Given the description of an element on the screen output the (x, y) to click on. 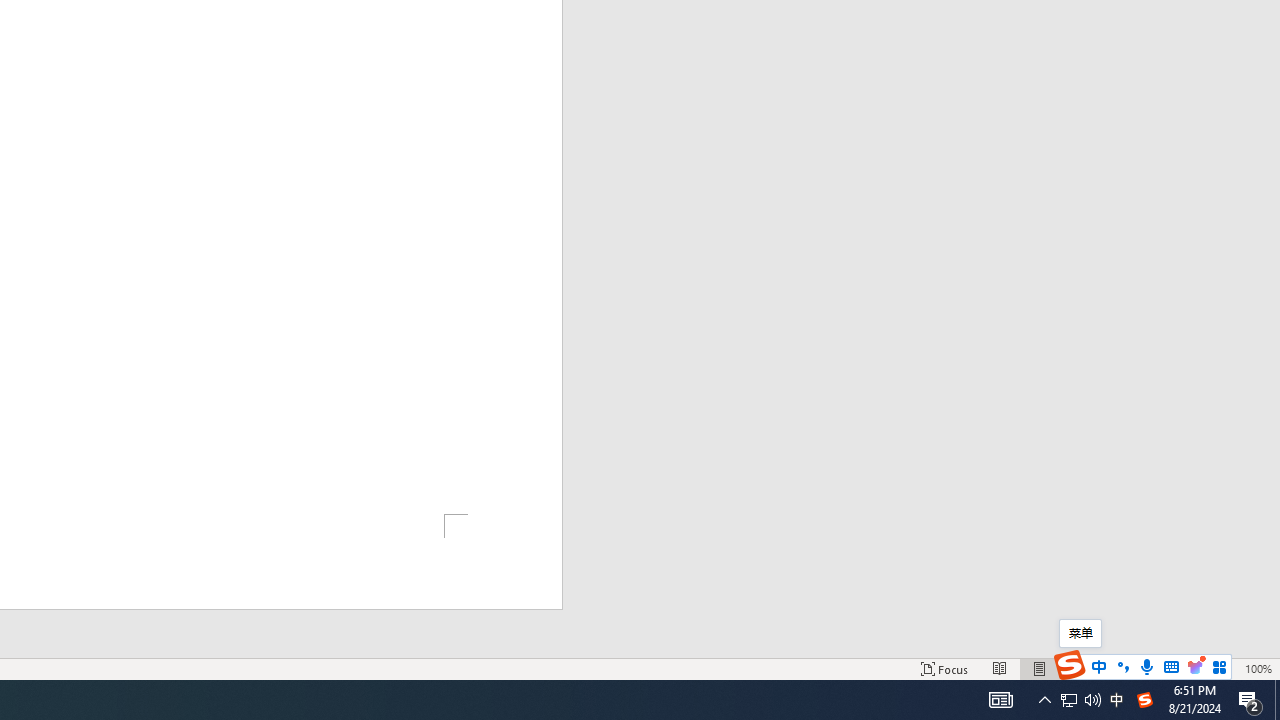
Zoom 100% (1258, 668)
